Given the description of an element on the screen output the (x, y) to click on. 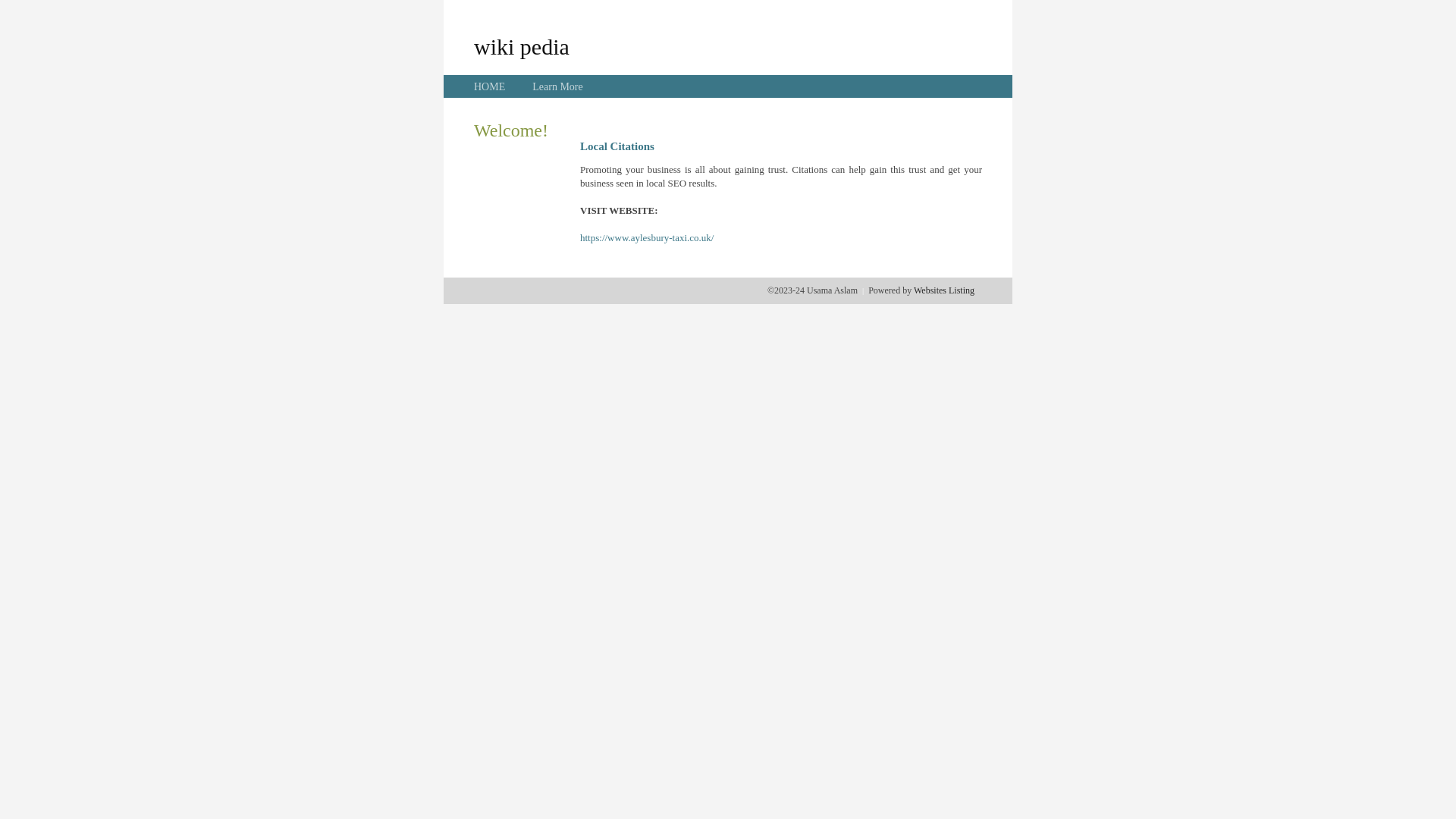
https://www.aylesbury-taxi.co.uk/ Element type: text (646, 237)
Learn More Element type: text (557, 86)
HOME Element type: text (489, 86)
Websites Listing Element type: text (943, 290)
wiki pedia Element type: text (521, 46)
